Given the description of an element on the screen output the (x, y) to click on. 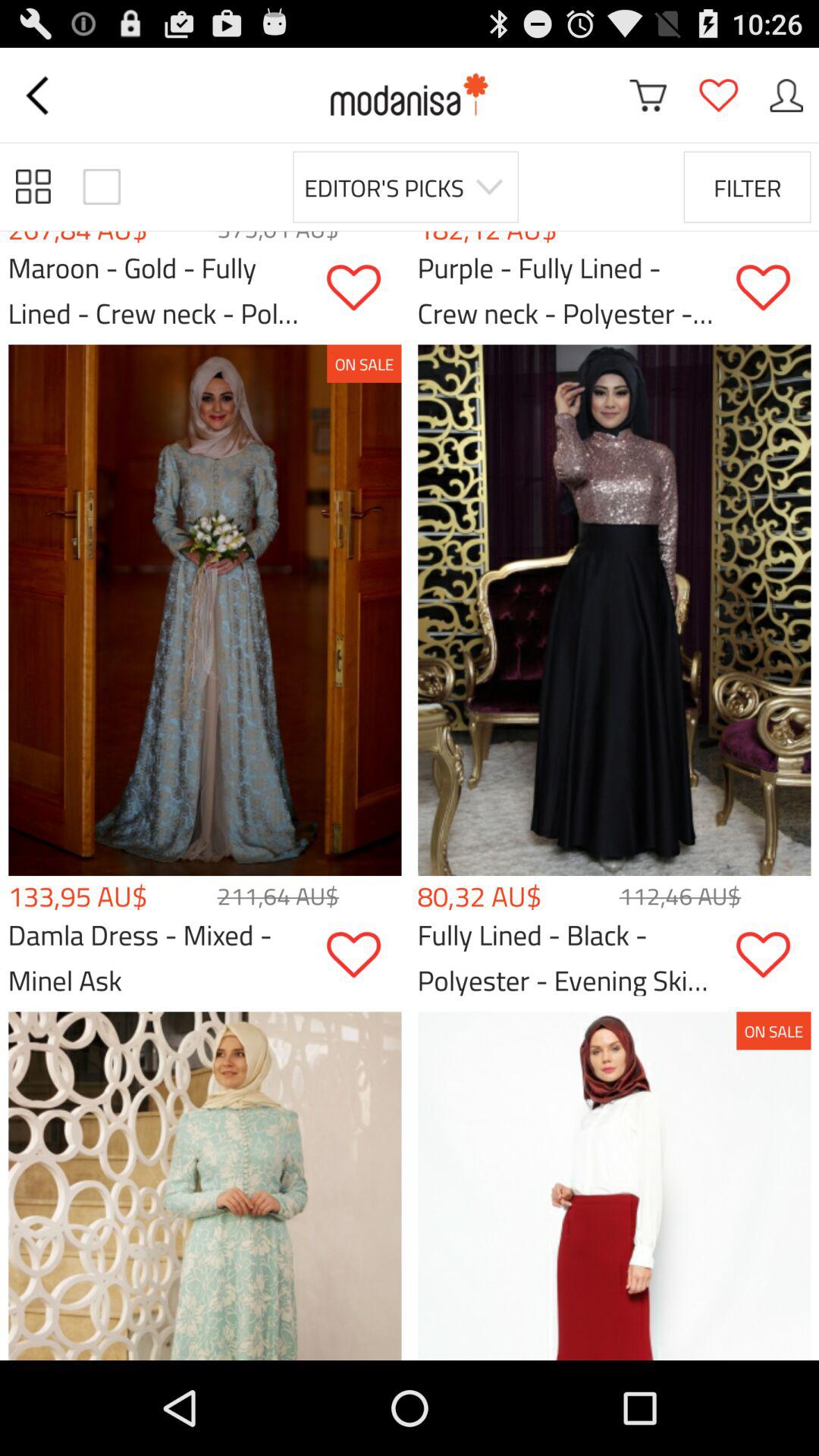
go to back (39, 95)
